Given the description of an element on the screen output the (x, y) to click on. 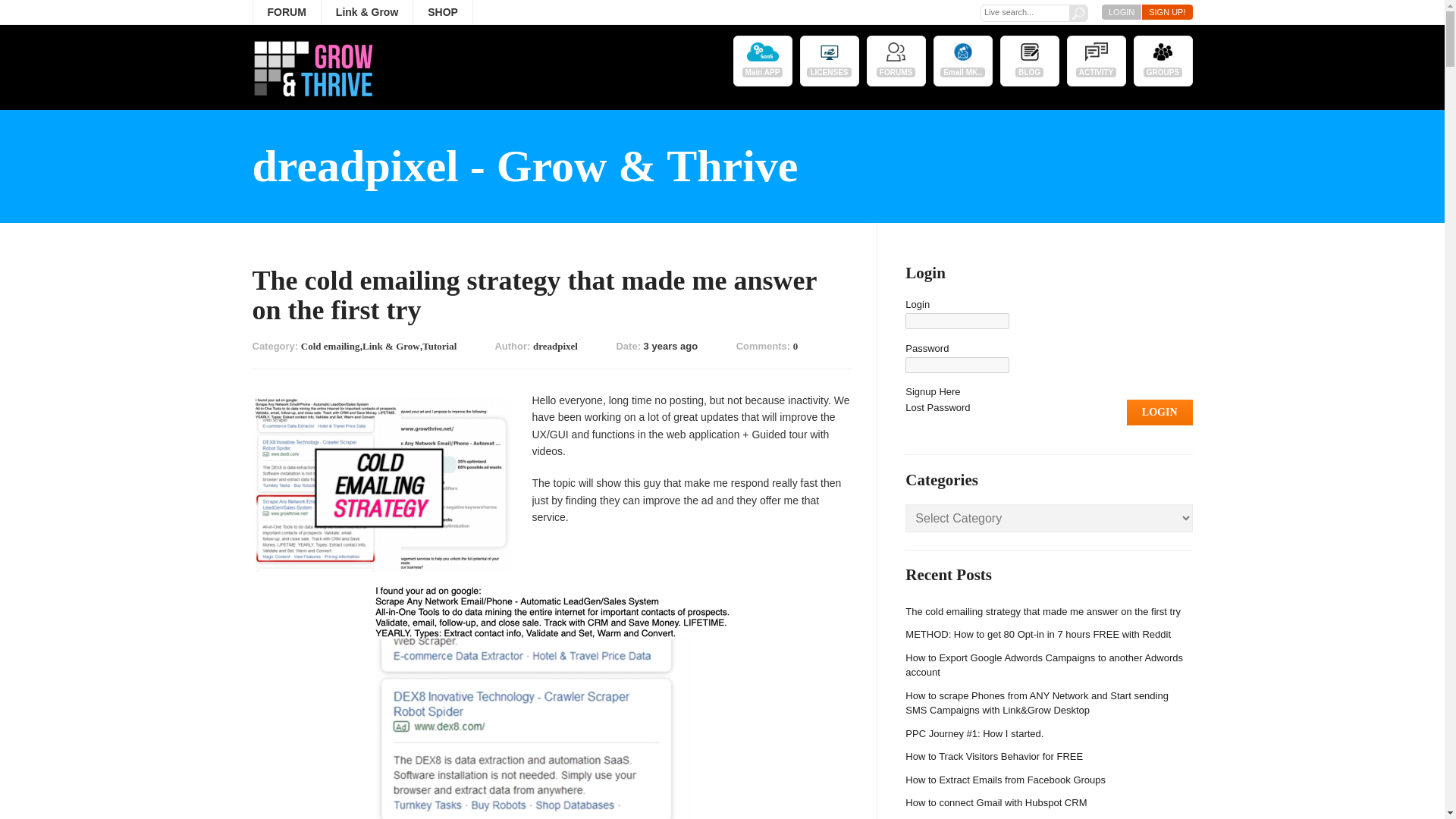
SIGN UP! (1166, 11)
FORUM (285, 11)
BLOG (1029, 60)
Main APP (762, 60)
SHOP (443, 11)
Login (1159, 412)
LOGIN (1121, 11)
GROUPS (1163, 60)
FORUMS (895, 60)
LICENSES (828, 60)
Email MK.. (962, 60)
ACTIVITY (1096, 60)
